Given the description of an element on the screen output the (x, y) to click on. 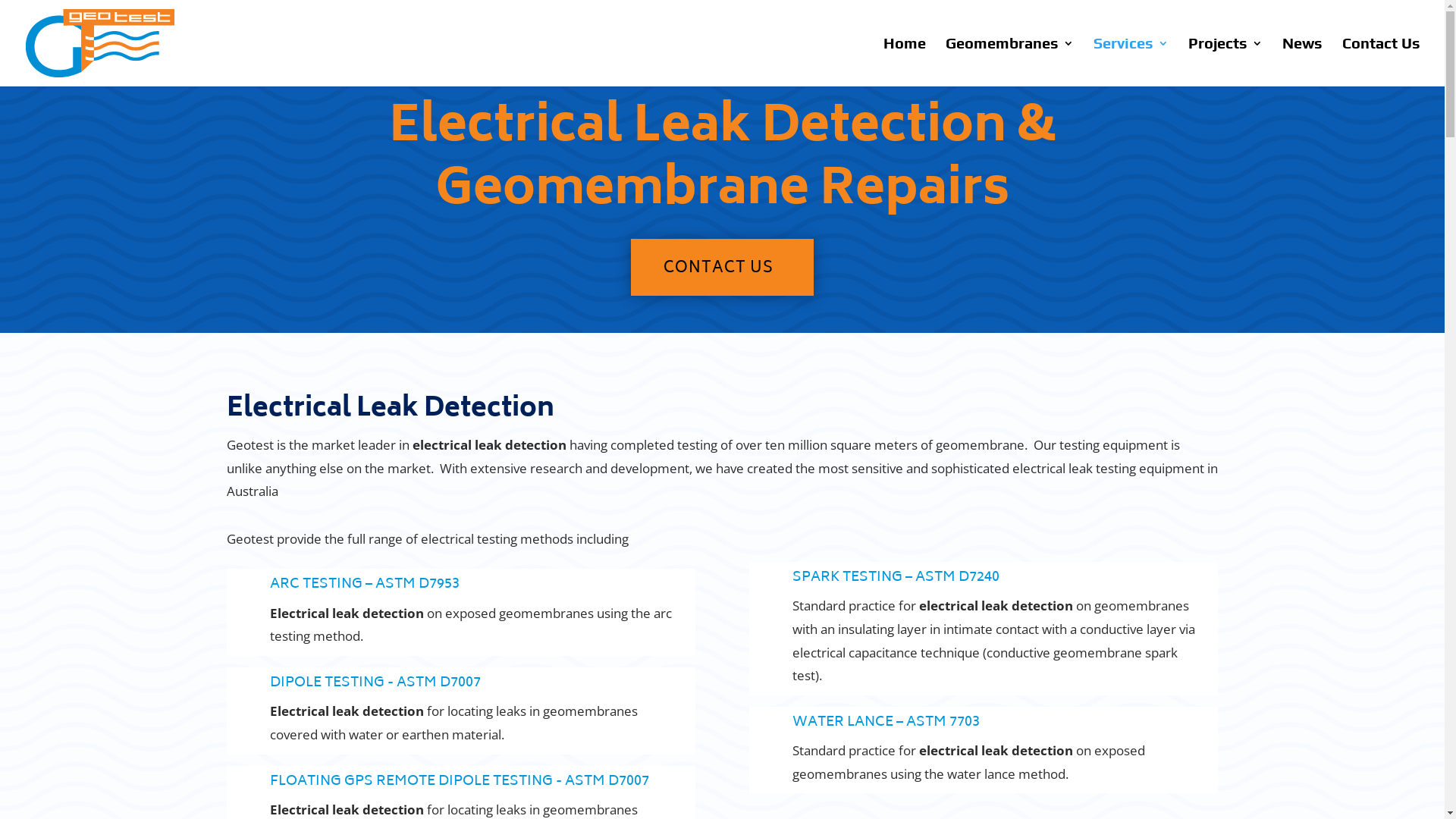
Projects Element type: text (1225, 61)
Home Element type: text (904, 61)
Services Element type: text (1130, 61)
Geomembranes Element type: text (1009, 61)
CONTACT US Element type: text (721, 266)
Contact Us Element type: text (1381, 61)
News Element type: text (1302, 61)
